Given the description of an element on the screen output the (x, y) to click on. 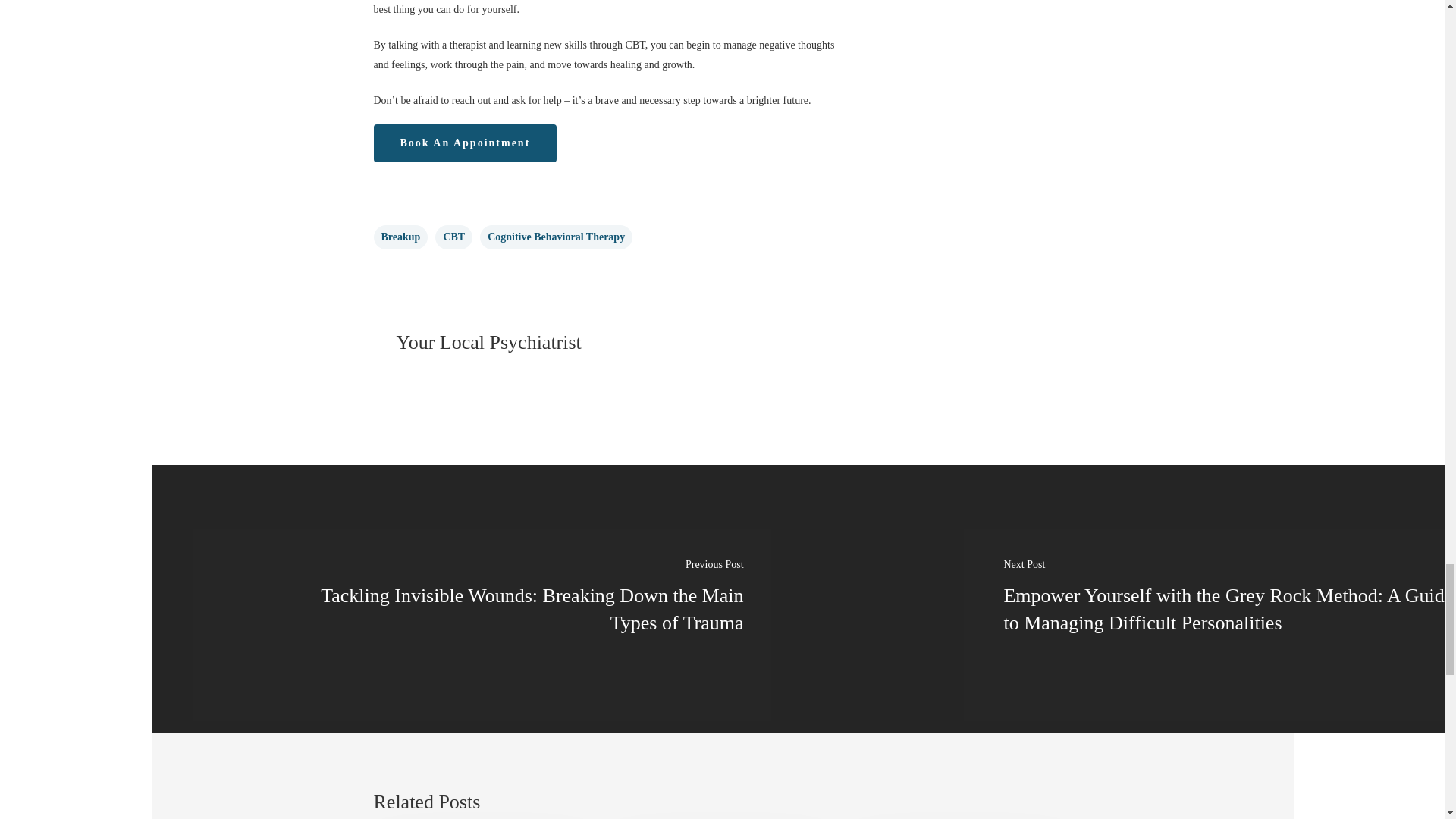
Book An Appointment (464, 143)
Breakup (400, 237)
CBT (453, 237)
